Given the description of an element on the screen output the (x, y) to click on. 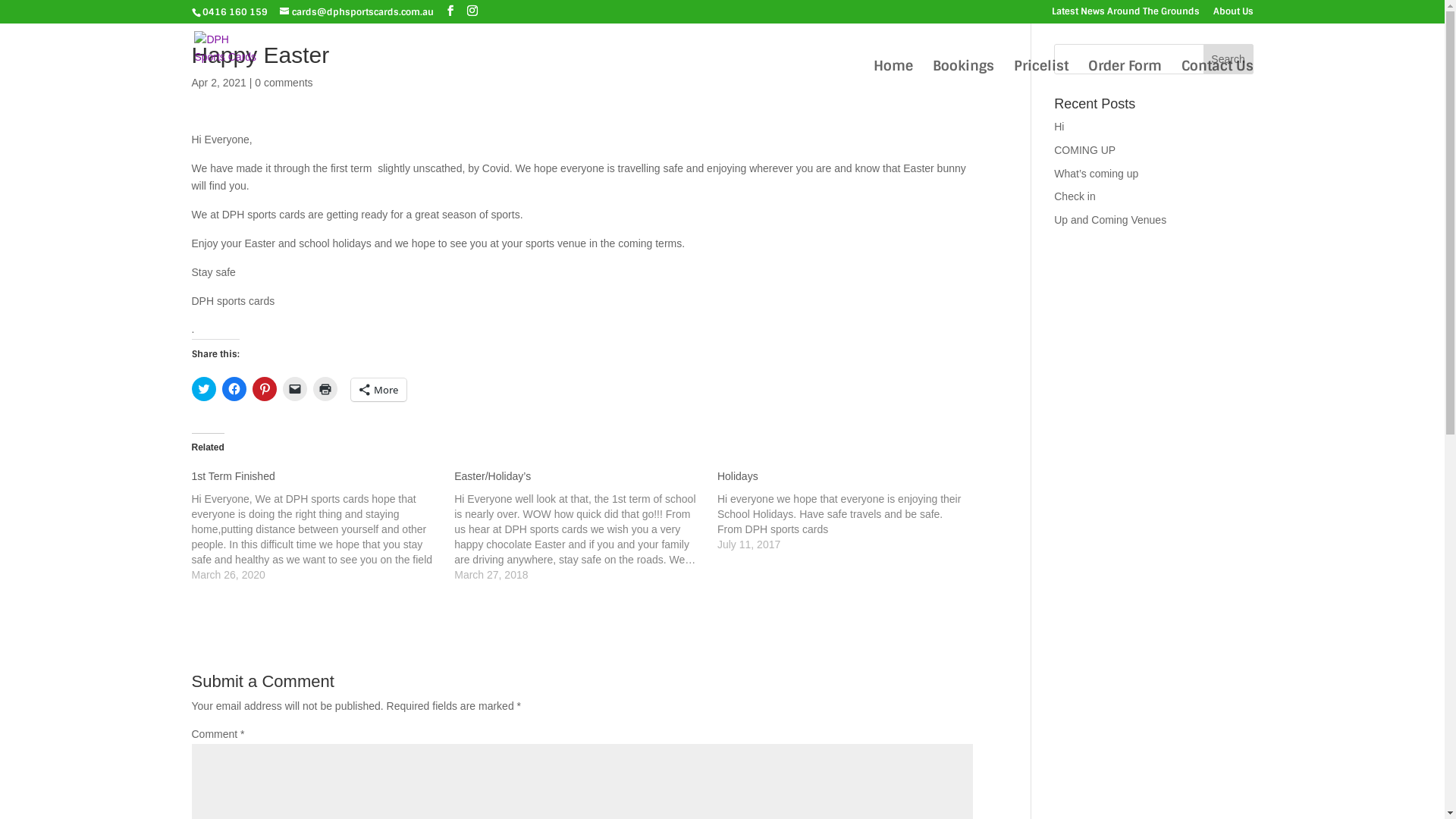
Latest News Around The Grounds Element type: text (1124, 14)
Click to email a link to a friend (Opens in new window) Element type: text (294, 388)
1st Term Finished Element type: hover (322, 525)
Pricelist Element type: text (1040, 84)
Click to share on Facebook (Opens in new window) Element type: text (233, 388)
Search Element type: text (1228, 58)
Up and Coming Venues Element type: text (1110, 219)
Click to print (Opens in new window) Element type: text (324, 388)
Order Form Element type: text (1124, 84)
About Us Element type: text (1233, 14)
Easter/Holiday&#8217;s Element type: hover (585, 525)
cards@dphsportscards.com.au Element type: text (356, 12)
Check in Element type: text (1074, 196)
0 comments Element type: text (283, 82)
Home Element type: text (893, 84)
Holidays Element type: text (737, 476)
Contact Us Element type: text (1217, 84)
Bookings Element type: text (963, 84)
Click to share on Pinterest (Opens in new window) Element type: text (263, 388)
Click to share on Twitter (Opens in new window) Element type: text (203, 388)
Hi Element type: text (1058, 126)
1st Term Finished Element type: text (232, 476)
COMING UP Element type: text (1084, 150)
Holidays Element type: hover (848, 510)
More Element type: text (377, 389)
